Given the description of an element on the screen output the (x, y) to click on. 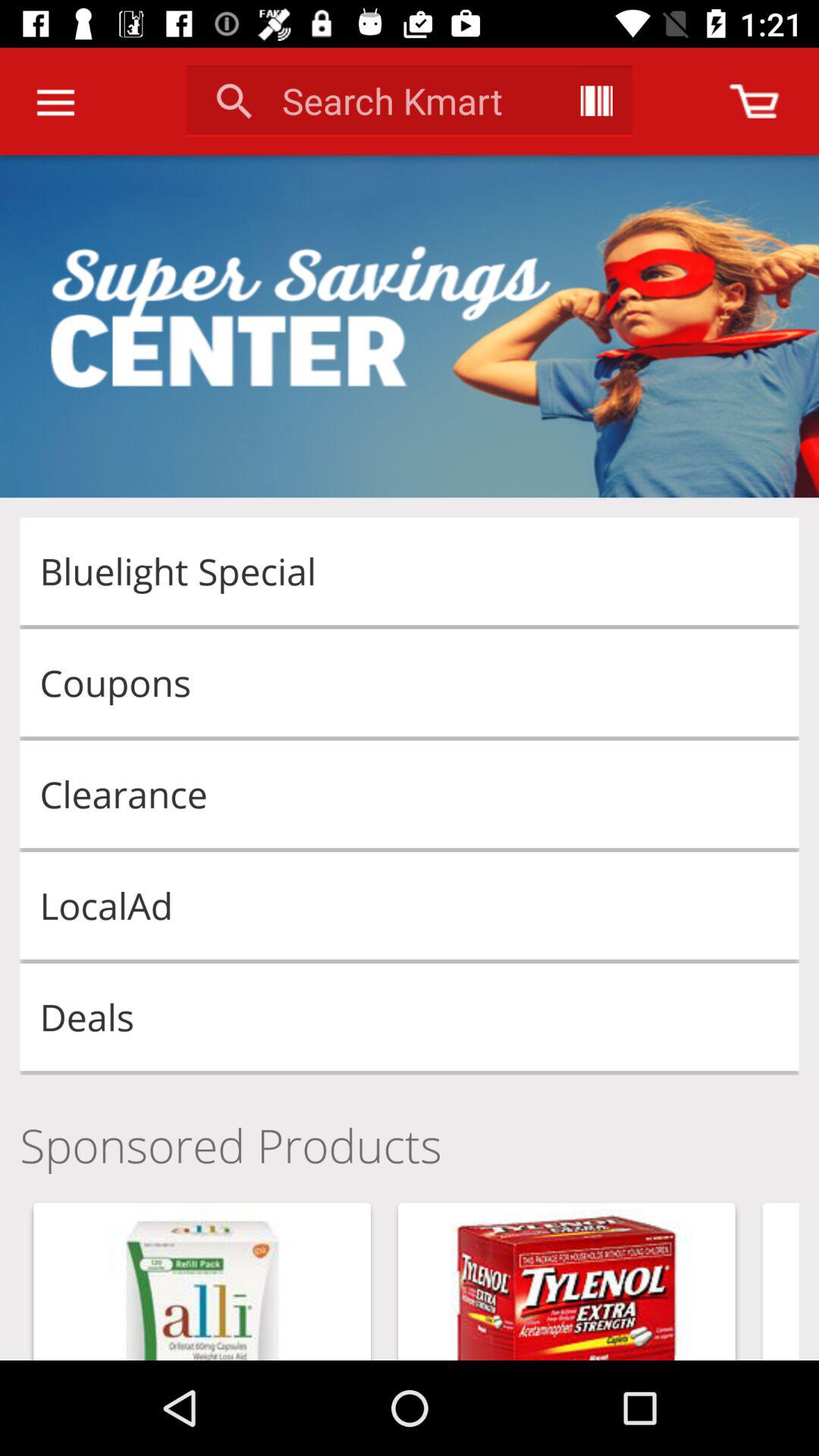
open the app next to the search kmart item (596, 100)
